Given the description of an element on the screen output the (x, y) to click on. 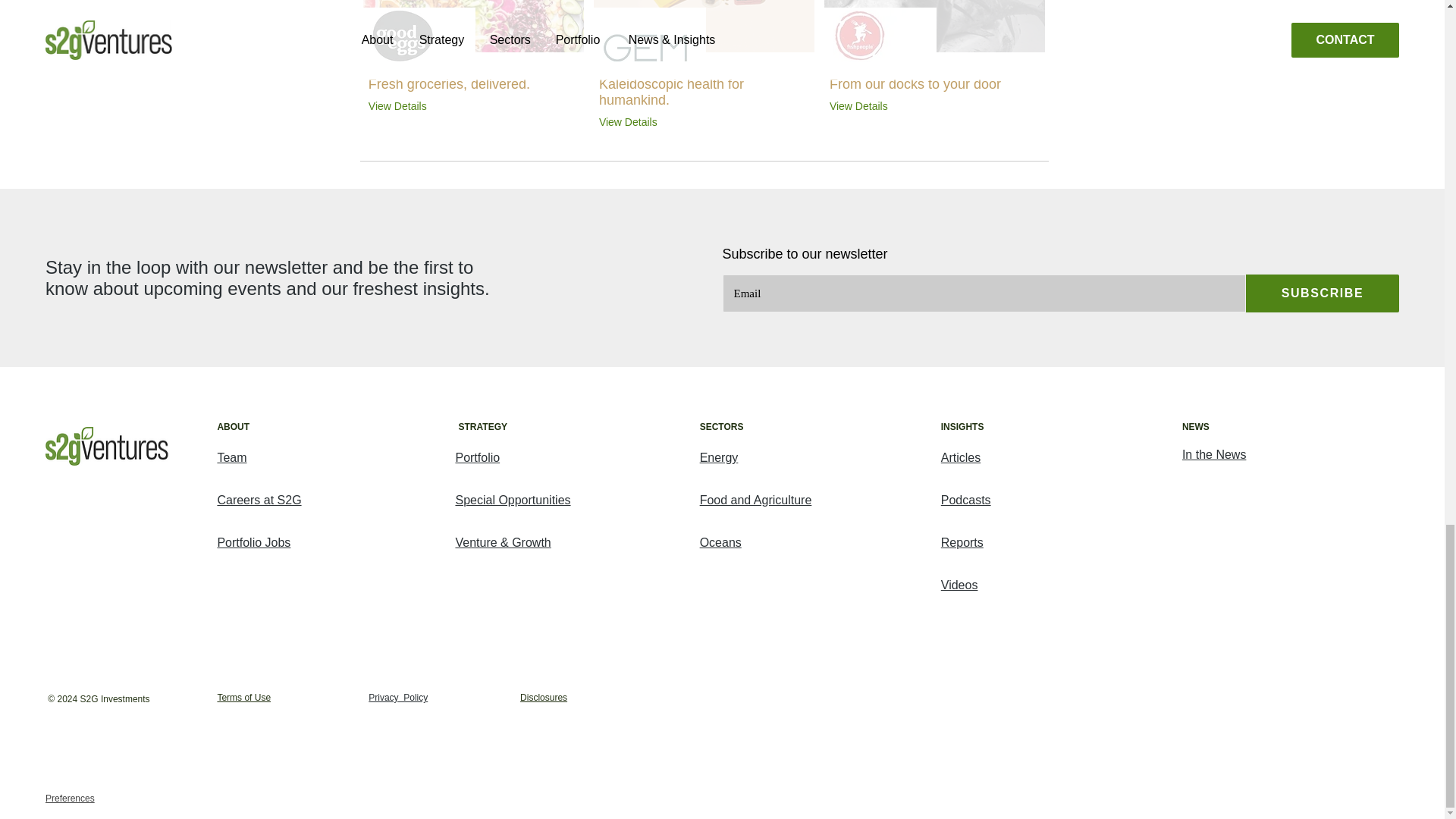
In the News (1214, 453)
Privacy  Policy (398, 697)
Reports (962, 542)
Articles (959, 457)
Energy (719, 457)
View Details (408, 105)
View Details (870, 105)
View Details (639, 121)
Videos (959, 584)
Podcasts (965, 499)
